Given the description of an element on the screen output the (x, y) to click on. 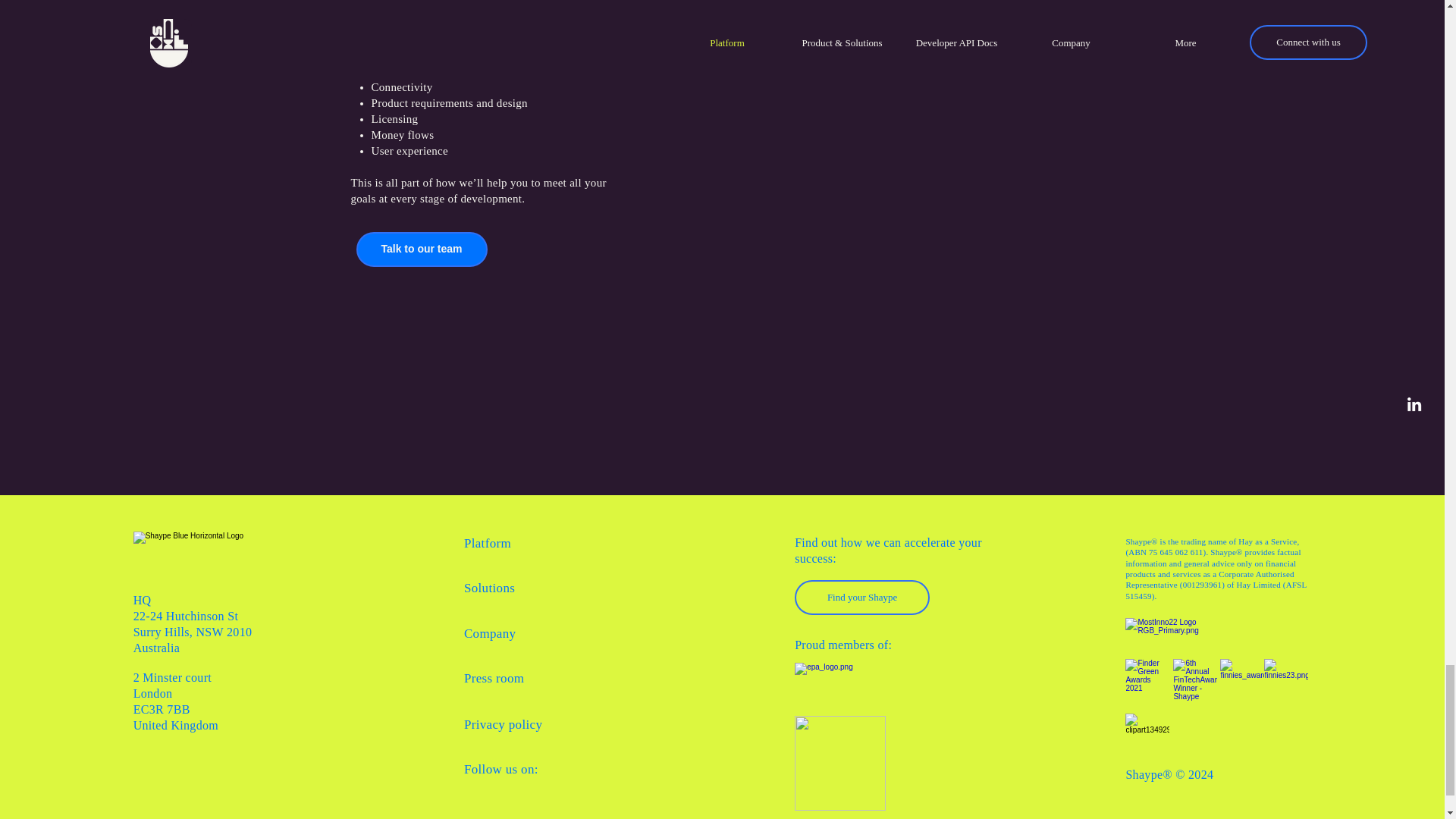
Talk to our team (421, 248)
Platform (487, 543)
